Given the description of an element on the screen output the (x, y) to click on. 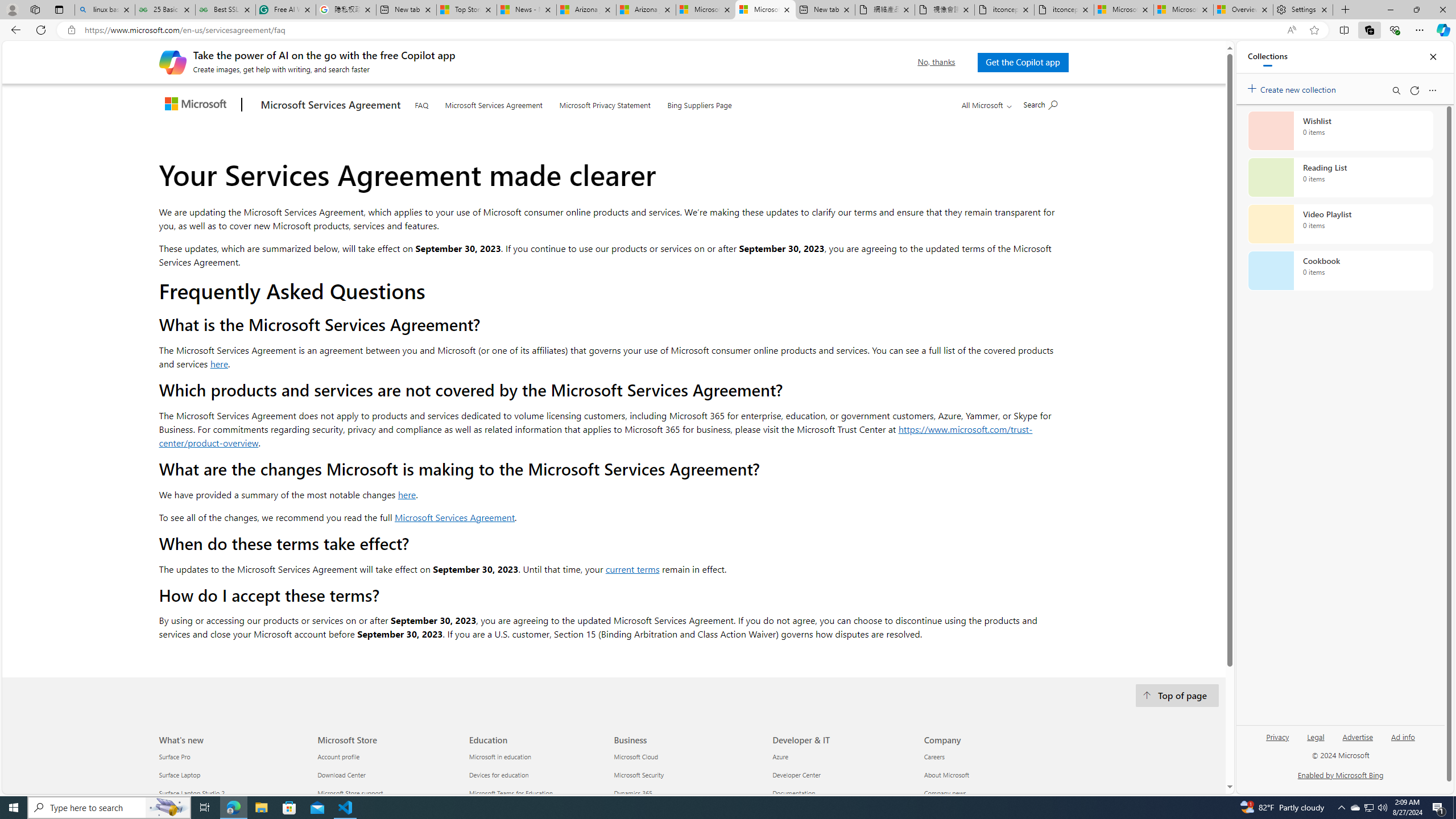
Download Center (386, 774)
FAQ (421, 103)
here (406, 494)
Microsoft Teams for Education (537, 793)
Account profile (386, 756)
Azure (840, 756)
